Given the description of an element on the screen output the (x, y) to click on. 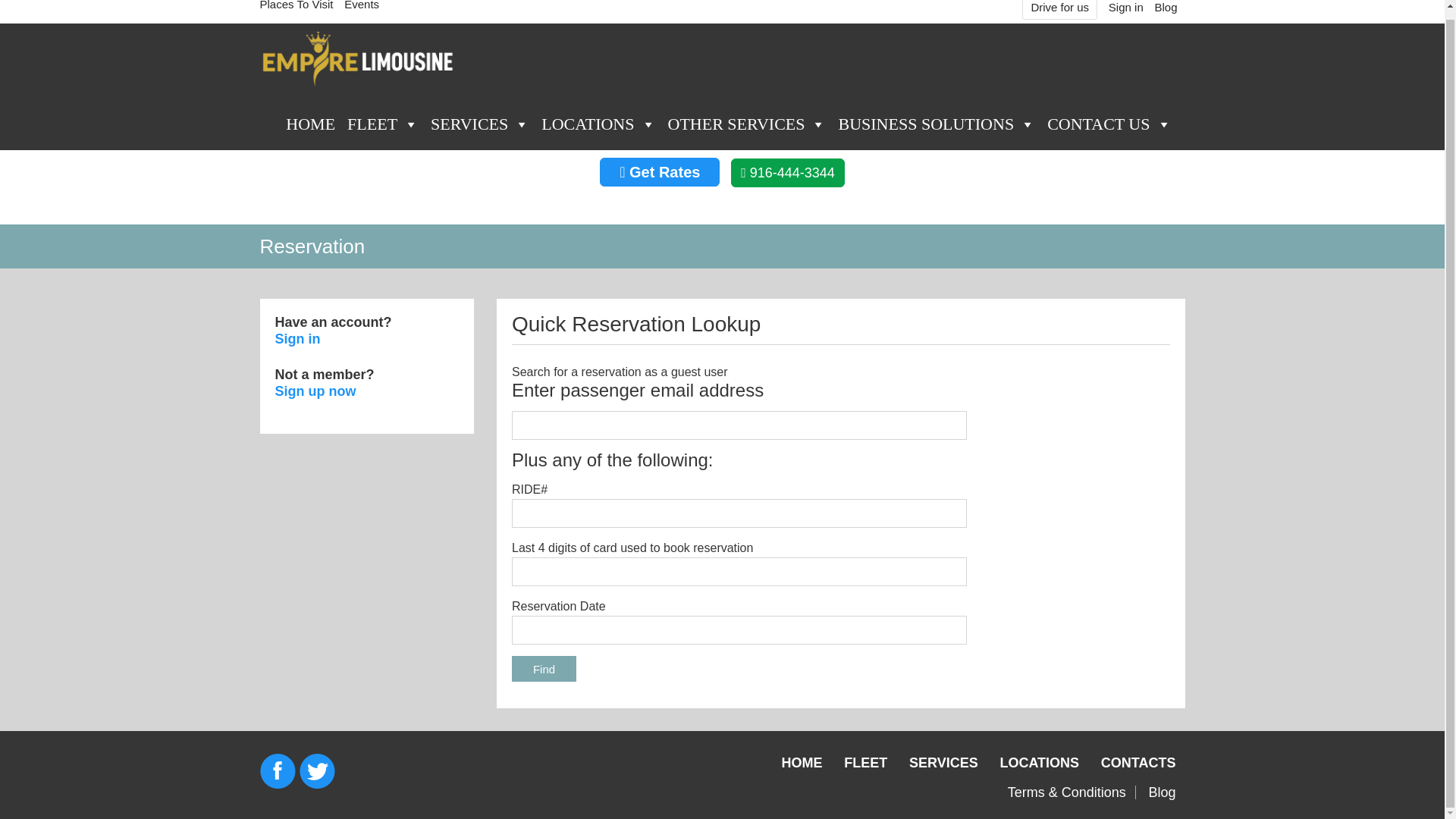
Limo Service Sacramento, Rent Party Bus Sacramento (358, 58)
Events (360, 5)
Find (544, 668)
Sign in (1125, 6)
FLEET (382, 122)
HOME (309, 122)
Drive for us (1059, 6)
Blog (1165, 6)
Places To Visit (296, 5)
